Given the description of an element on the screen output the (x, y) to click on. 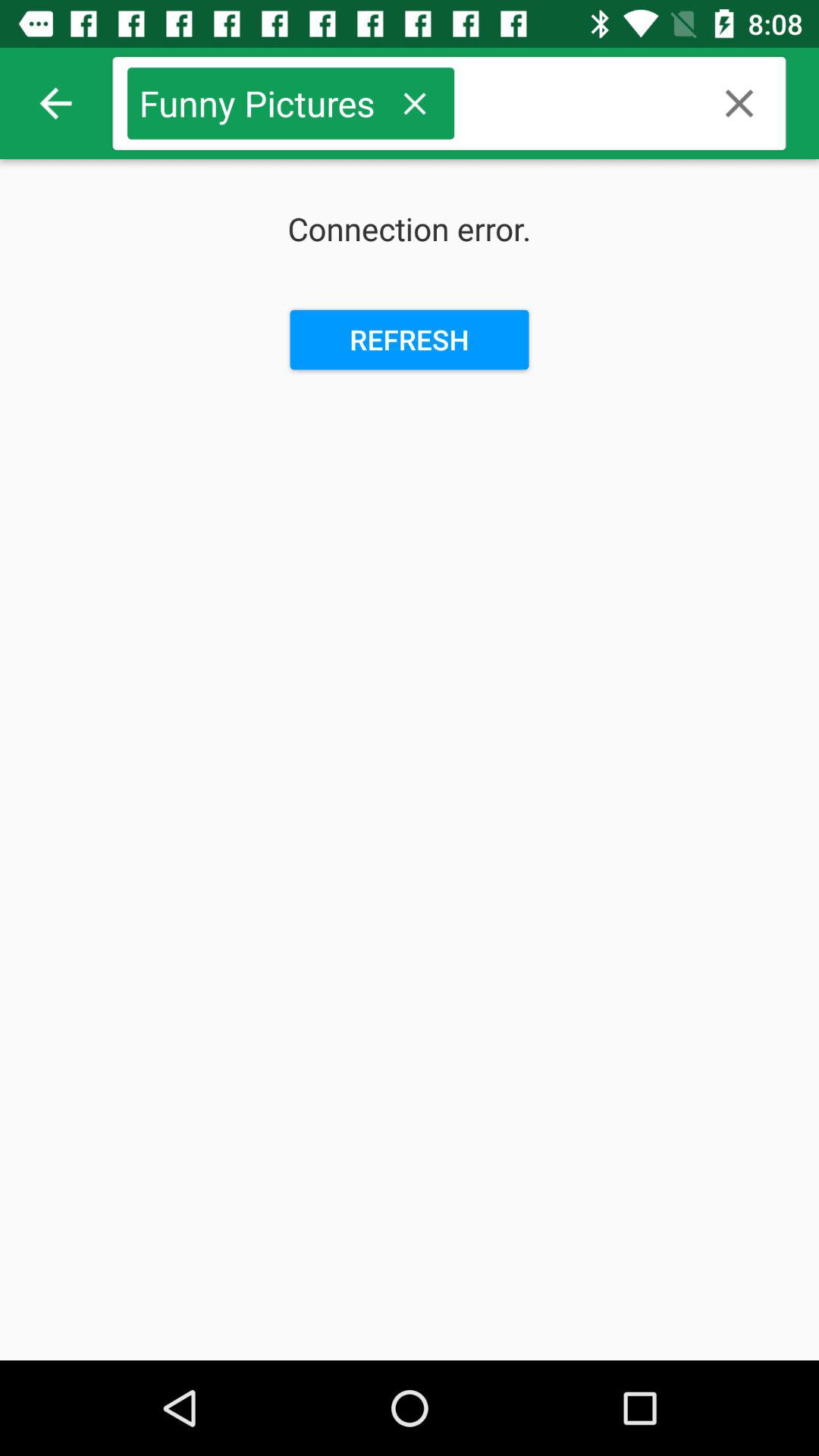
open the icon to the left of the funny pictures (55, 103)
